Given the description of an element on the screen output the (x, y) to click on. 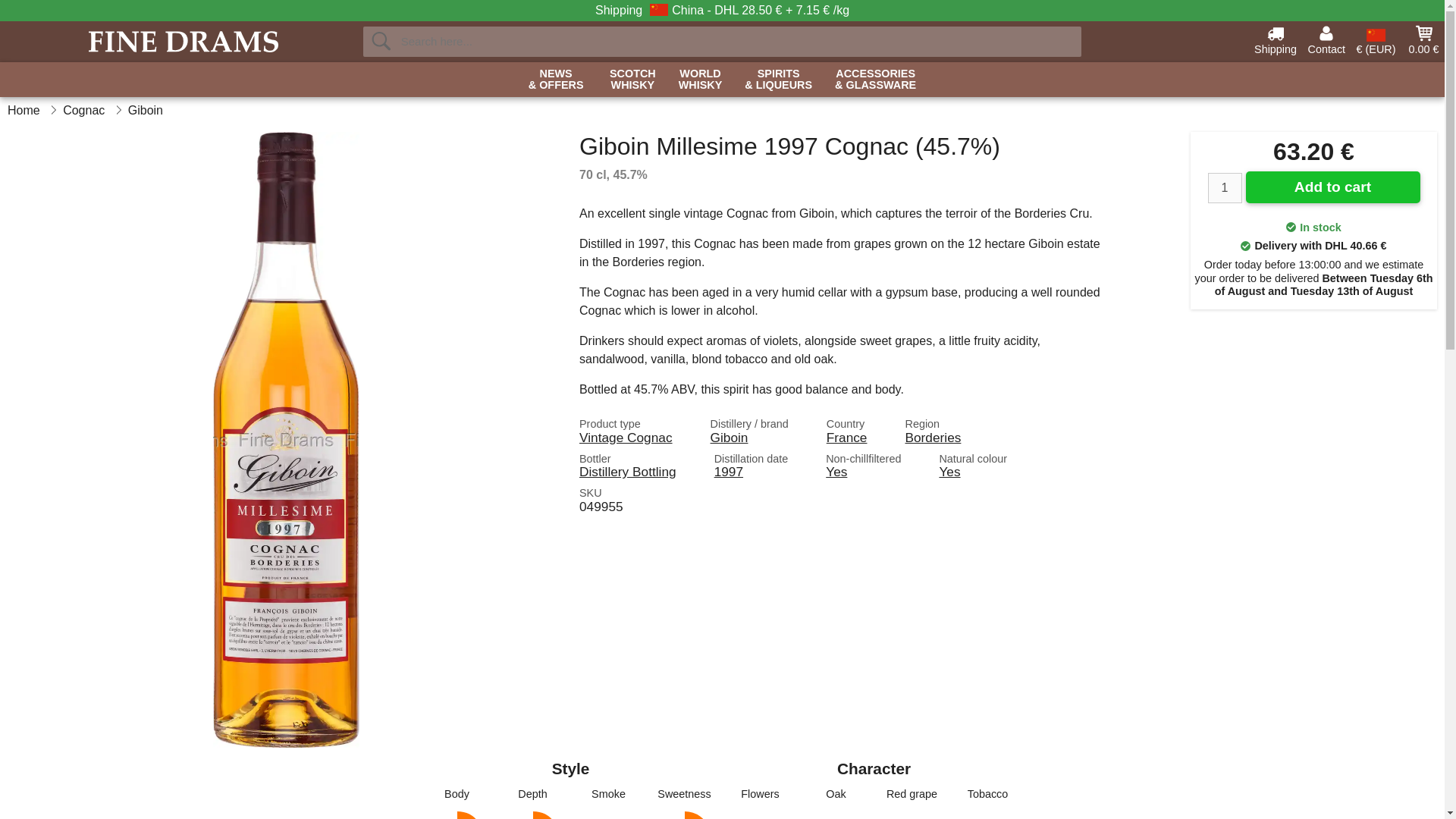
Shipping (1275, 39)
Contact (632, 79)
1 (1326, 39)
